Given the description of an element on the screen output the (x, y) to click on. 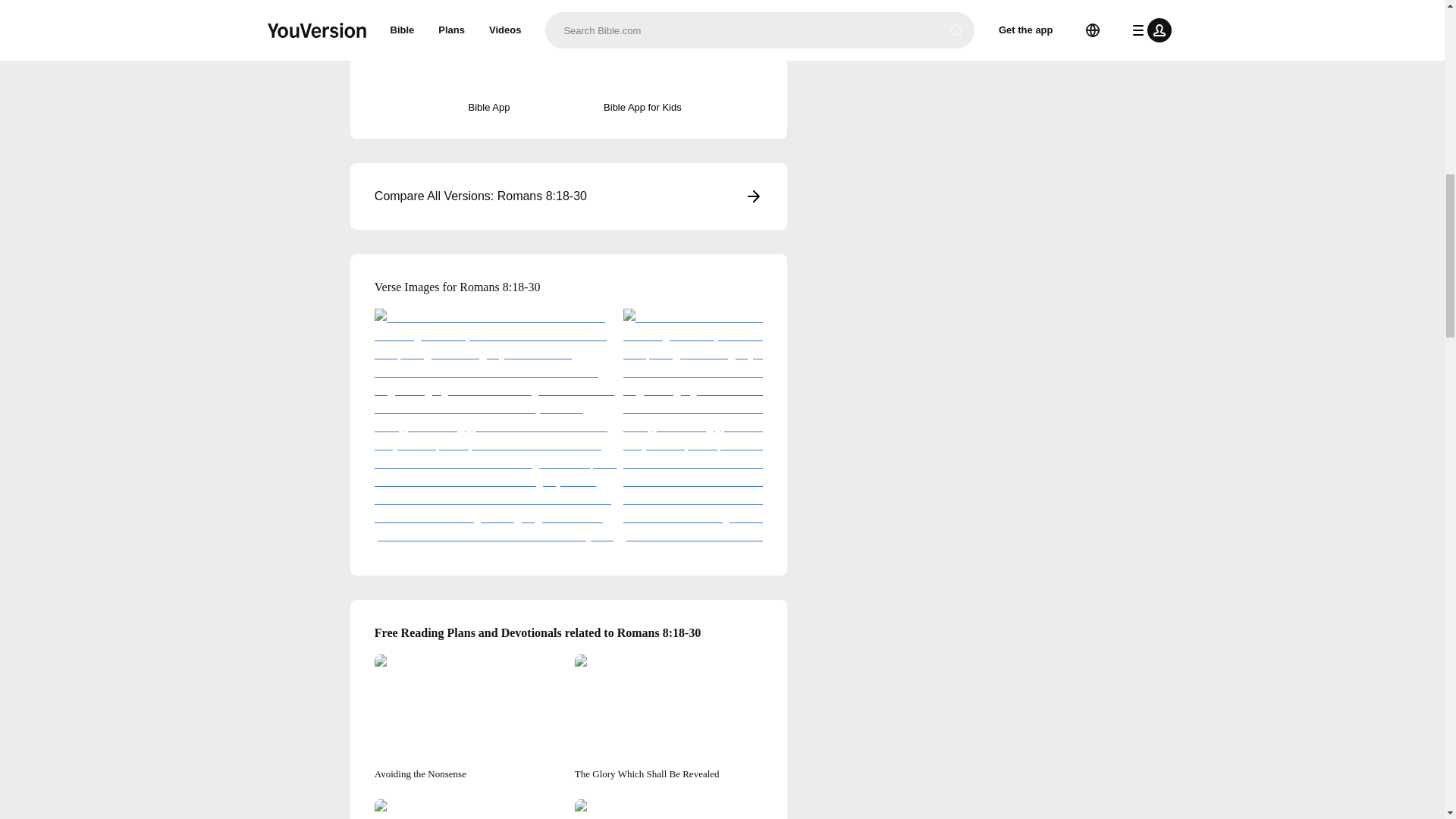
The Condemnation Free Life With Judah Lupisella (668, 809)
The Glory Which Shall Be Revealed (668, 717)
Compare All Versions: Romans 8:18-30 (568, 196)
Verse Images for Romans 8:18-30 (568, 287)
Avoiding the Nonsense (468, 717)
Bible App for Kids (642, 74)
